Given the description of an element on the screen output the (x, y) to click on. 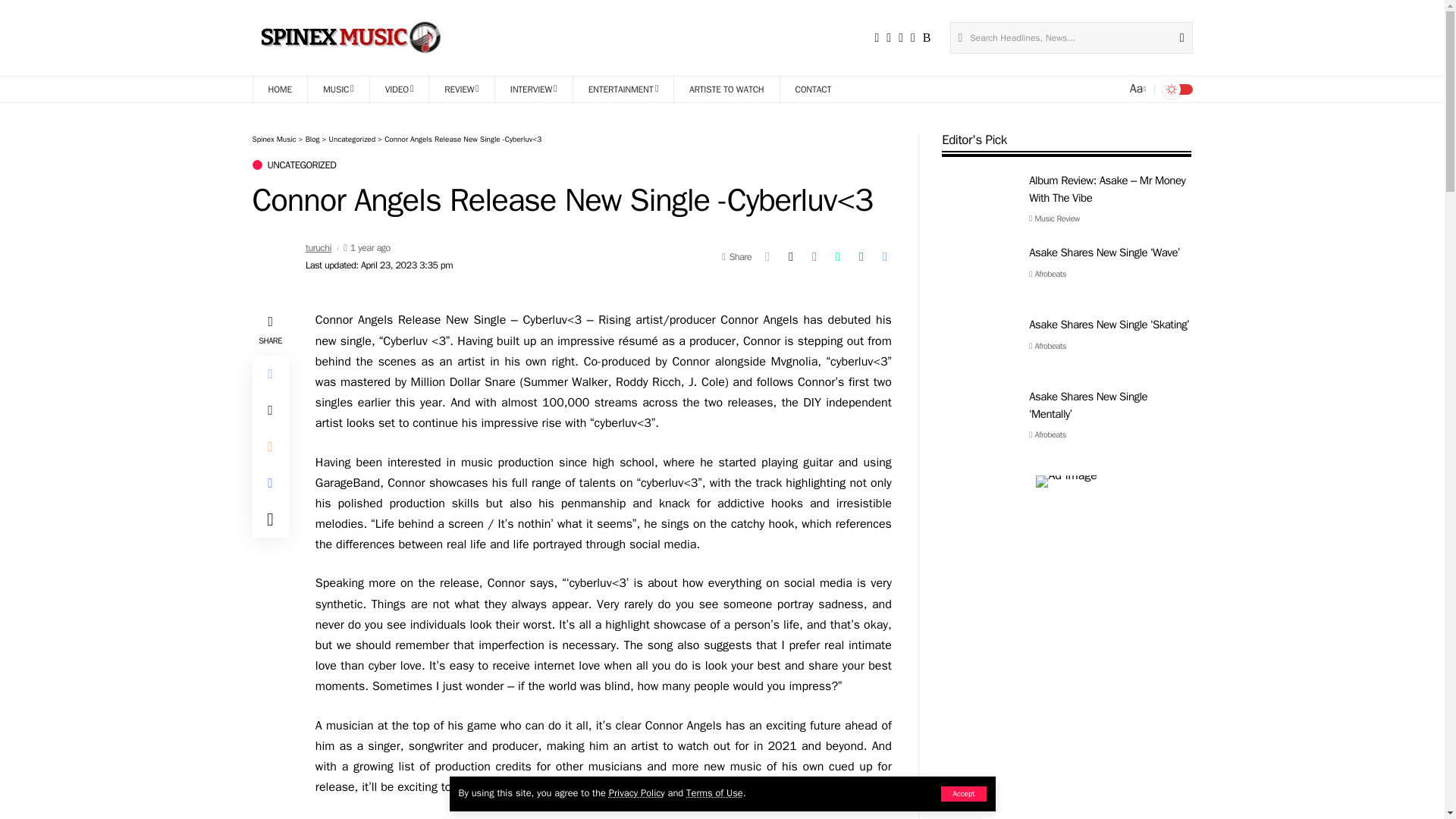
REVIEW (461, 89)
VIDEO (399, 89)
MUSIC (338, 89)
Terms of Use (713, 793)
Spinex Music (353, 37)
Privacy Policy (636, 793)
Accept (962, 793)
HOME (278, 89)
